Given the description of an element on the screen output the (x, y) to click on. 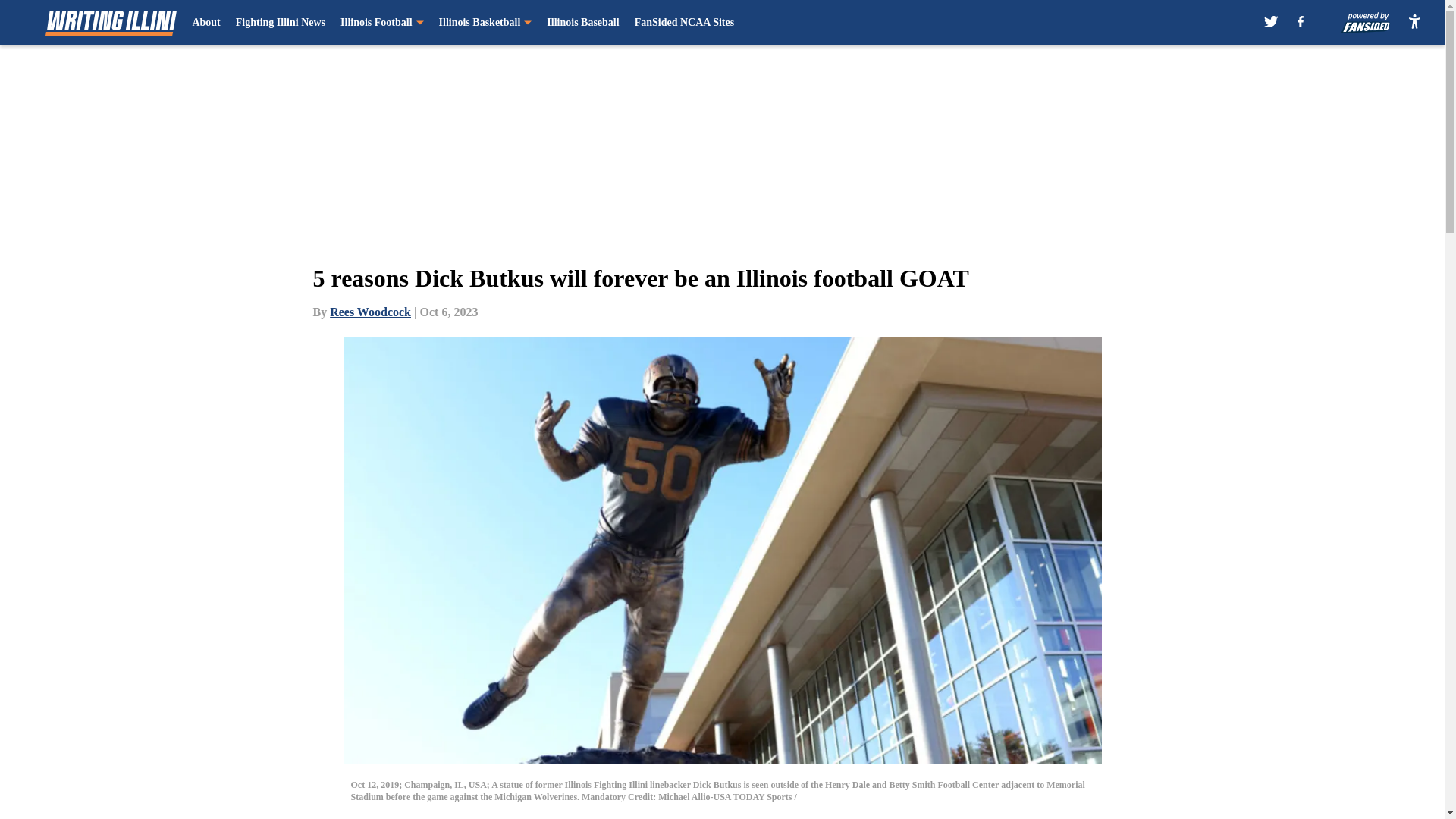
Fighting Illini News (279, 22)
Rees Woodcock (370, 311)
About (205, 22)
FanSided NCAA Sites (683, 22)
Illinois Baseball (582, 22)
